Given the description of an element on the screen output the (x, y) to click on. 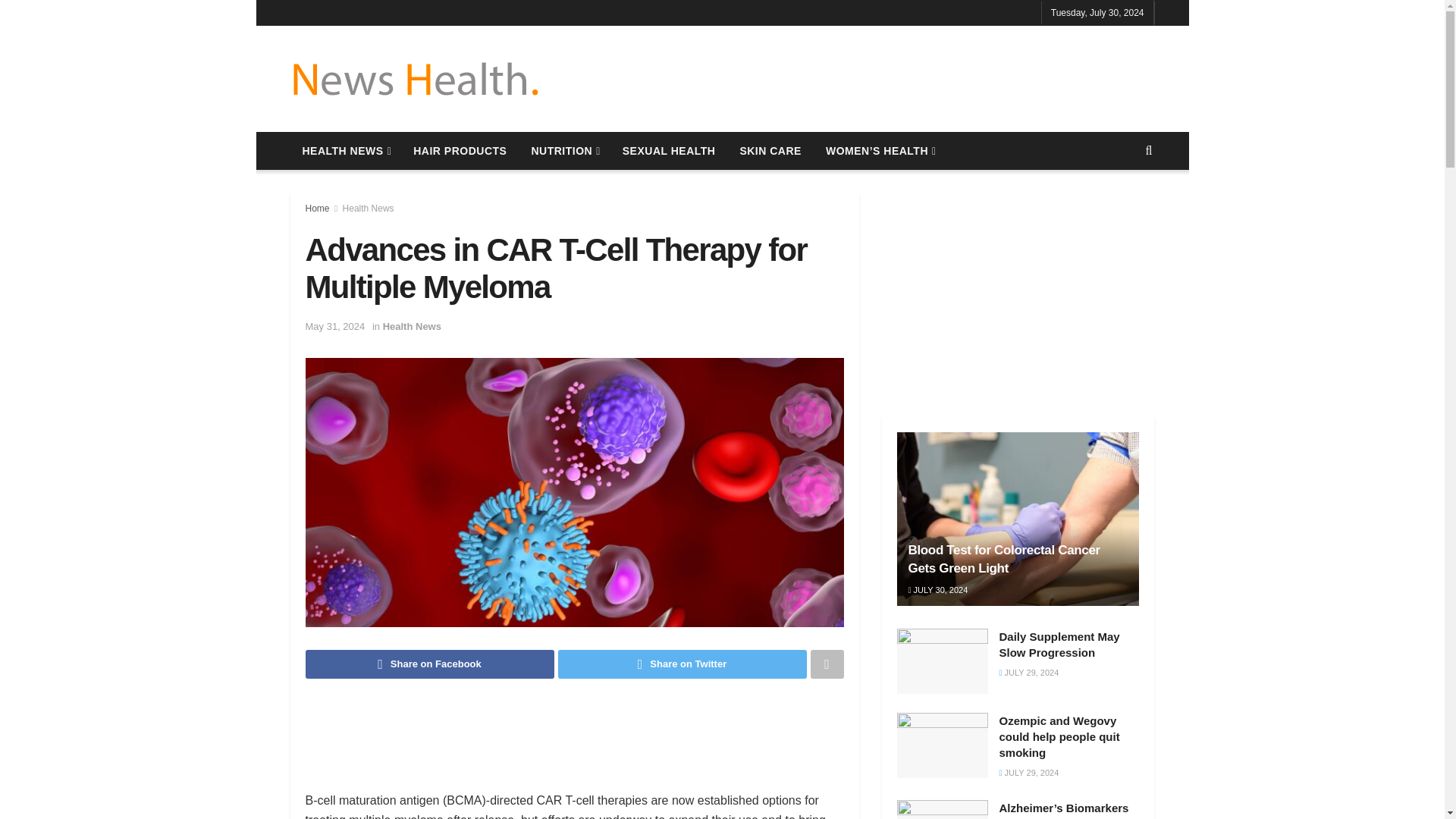
SEXUAL HEALTH (669, 150)
Share on Facebook (428, 664)
HAIR PRODUCTS (459, 150)
Home (316, 208)
NUTRITION (564, 150)
Share on Twitter (681, 664)
Health News (411, 326)
May 31, 2024 (334, 326)
SKIN CARE (769, 150)
Health News (368, 208)
HEALTH NEWS (345, 150)
